Given the description of an element on the screen output the (x, y) to click on. 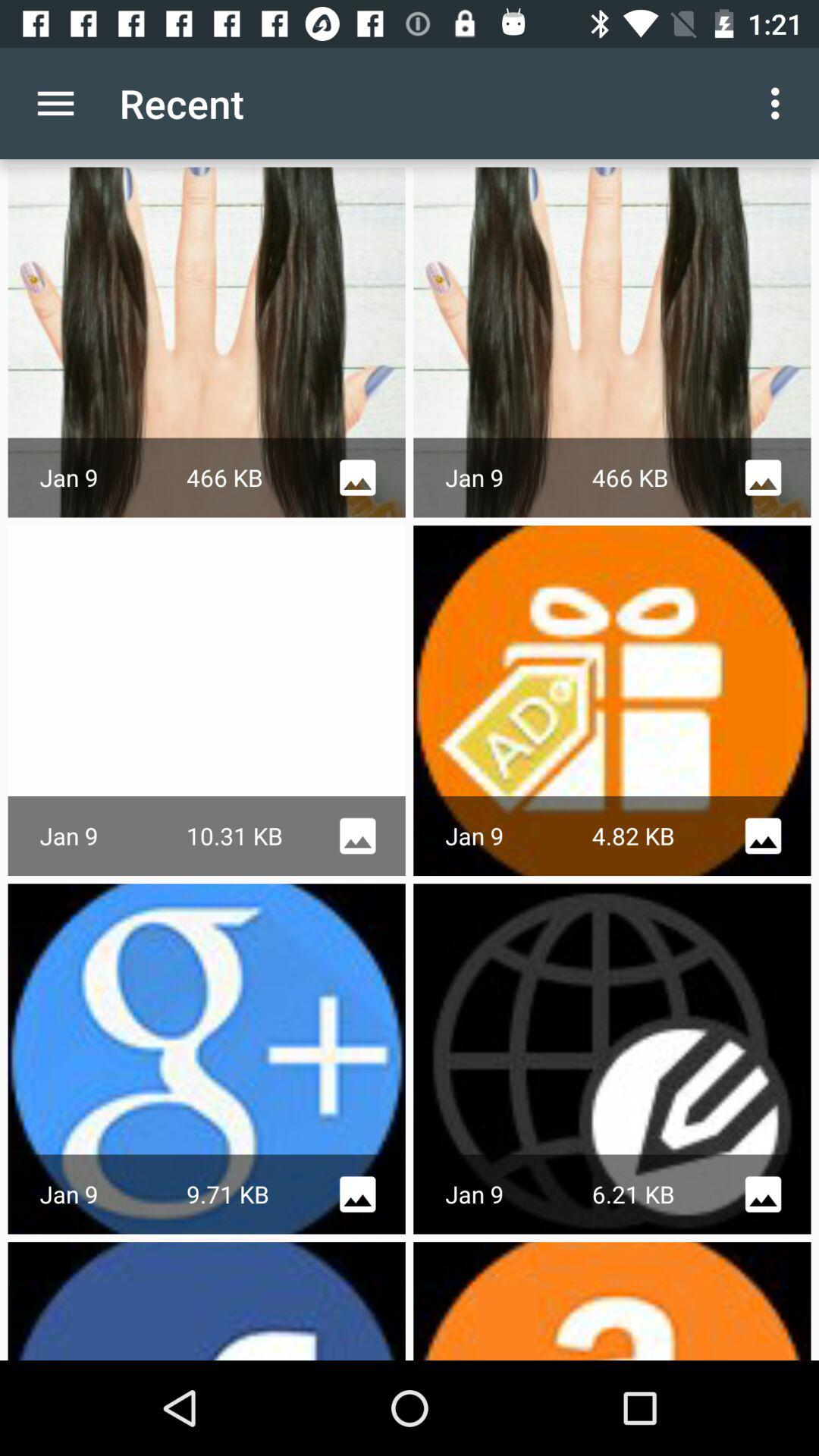
press the icon next to the recent app (55, 103)
